Given the description of an element on the screen output the (x, y) to click on. 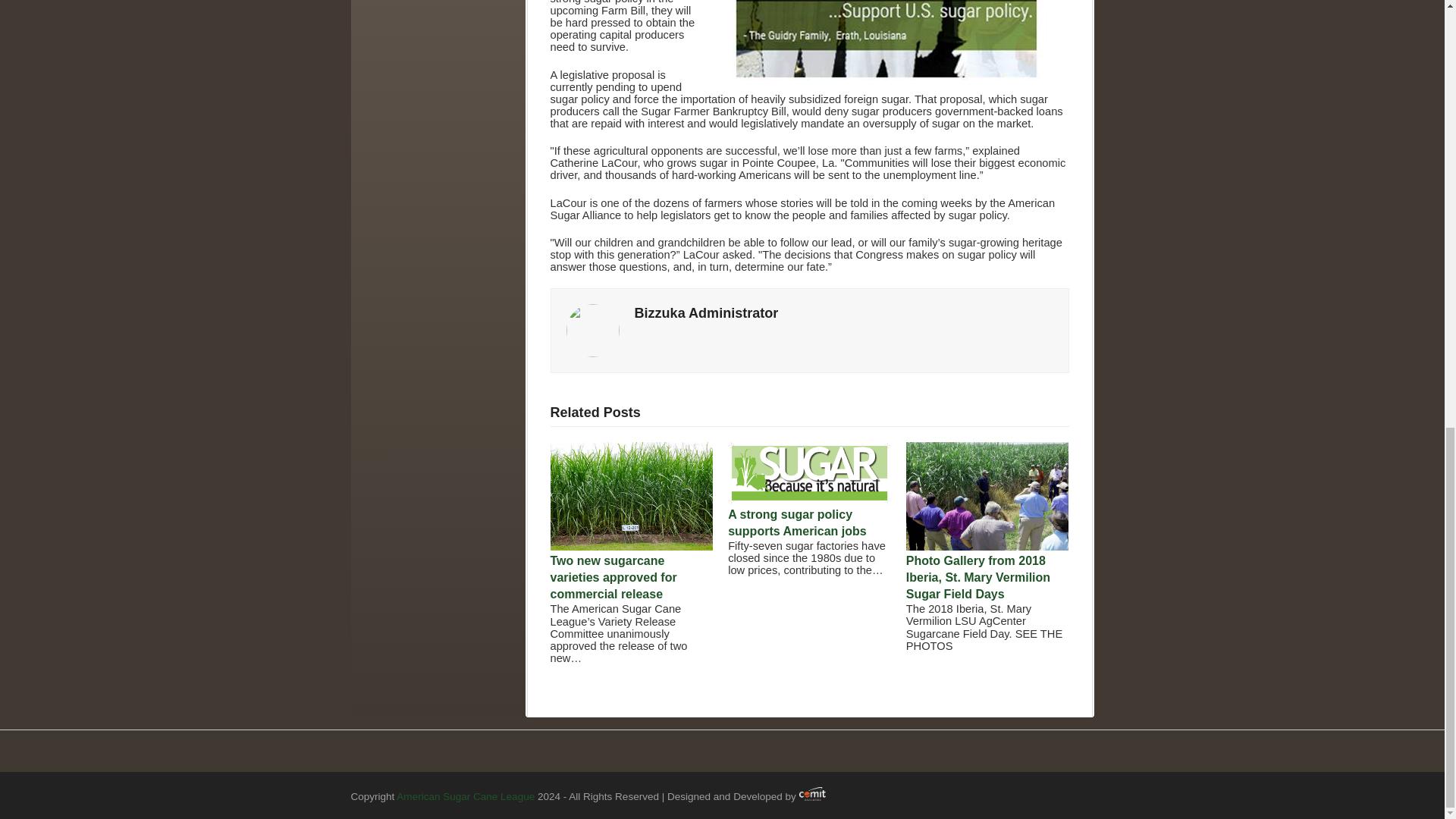
Visit Author Page (592, 329)
A strong sugar policy supports American jobs (809, 500)
Visit Author Page (705, 313)
Guidry cut ous (887, 40)
Two new sugarcane varieties approved for commercial release (631, 546)
